Given the description of an element on the screen output the (x, y) to click on. 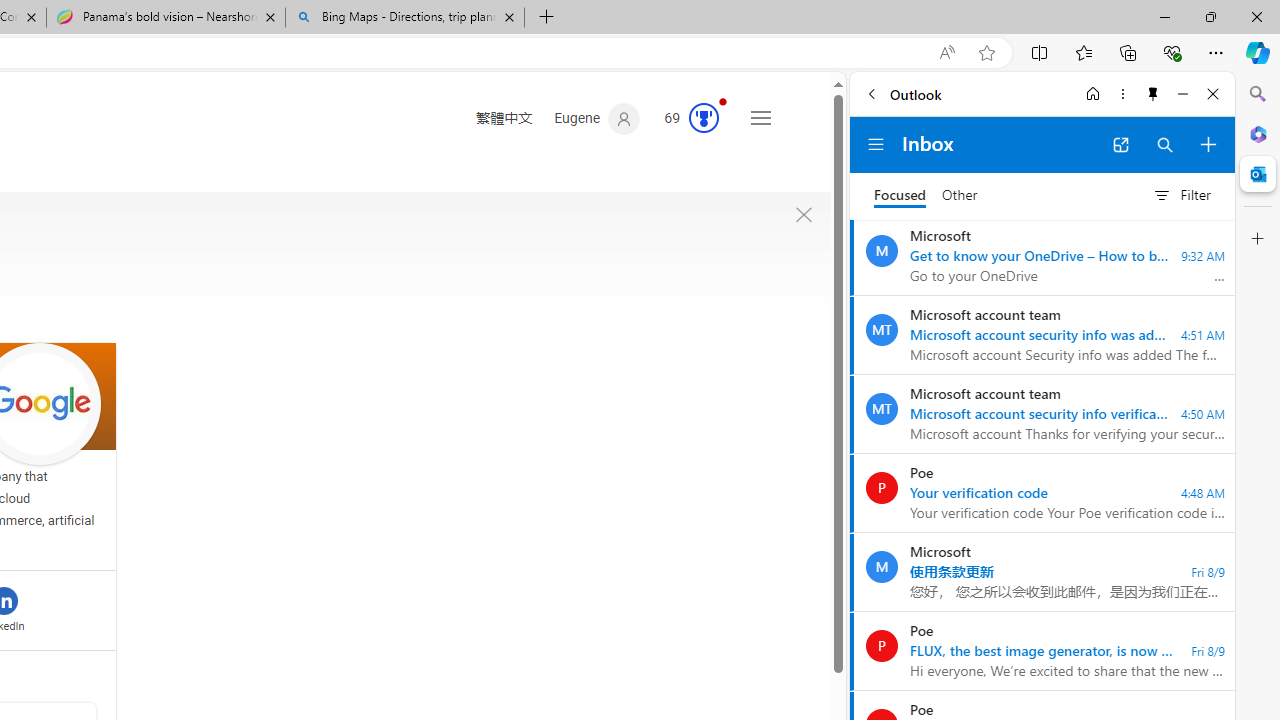
Compose new mail (1208, 144)
More options (1122, 93)
Restore (1210, 16)
Settings and more (Alt+F) (1215, 52)
Settings and quick links (760, 117)
Other (959, 195)
Close tab (509, 16)
AutomationID: serp_medal_svg (703, 117)
Add this page to favorites (Ctrl+D) (986, 53)
Eugene (597, 119)
Search (1258, 94)
